Given the description of an element on the screen output the (x, y) to click on. 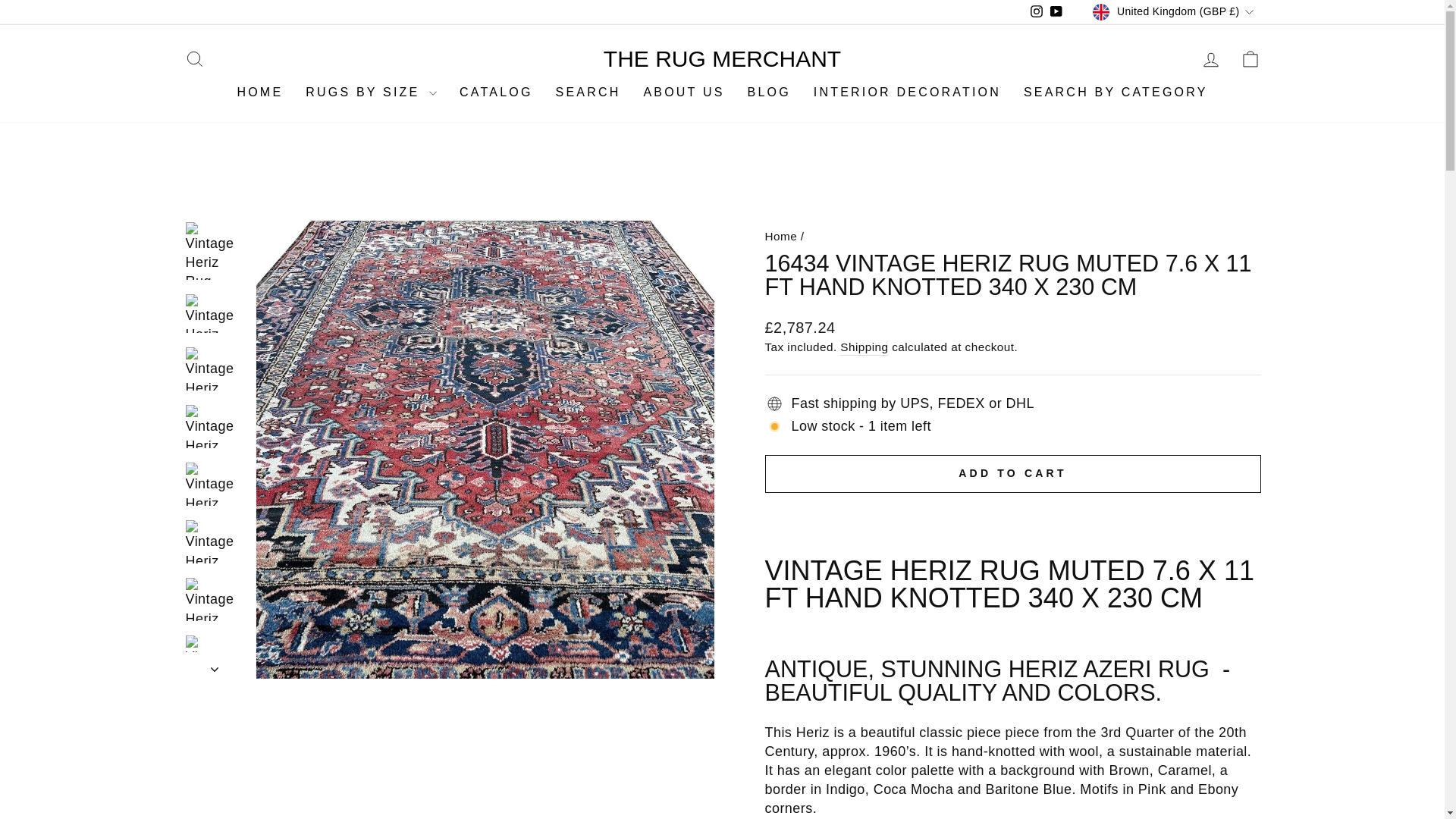
instagram (1036, 10)
ICON-SEARCH (194, 58)
ACCOUNT (1210, 59)
ICON-BAG-MINIMAL (1249, 58)
Back to the frontpage (780, 236)
